Given the description of an element on the screen output the (x, y) to click on. 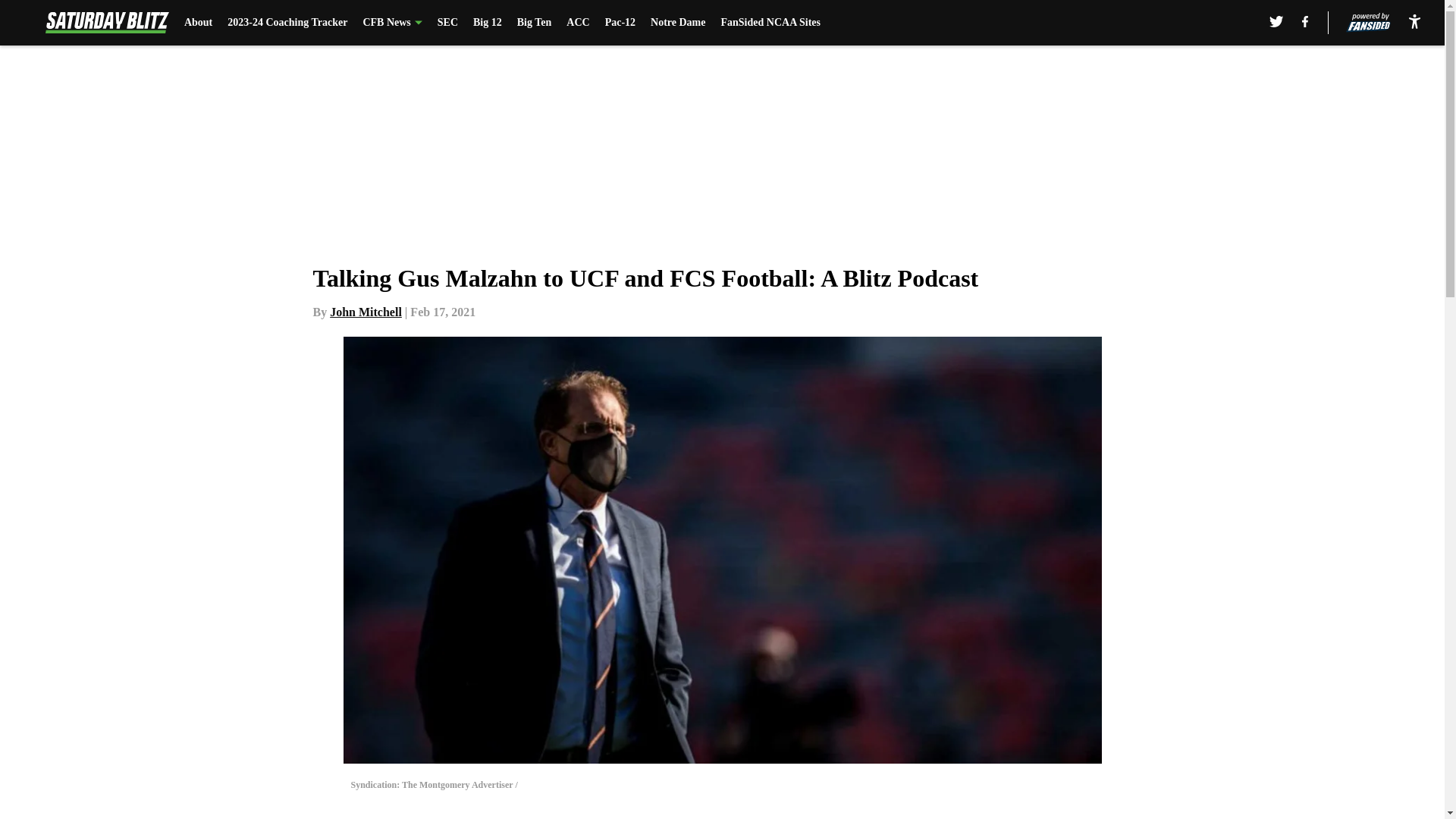
ACC (577, 22)
About (198, 22)
2023-24 Coaching Tracker (287, 22)
John Mitchell (365, 311)
Big 12 (487, 22)
Pac-12 (619, 22)
FanSided NCAA Sites (769, 22)
Big Ten (533, 22)
Notre Dame (677, 22)
SEC (448, 22)
